Given the description of an element on the screen output the (x, y) to click on. 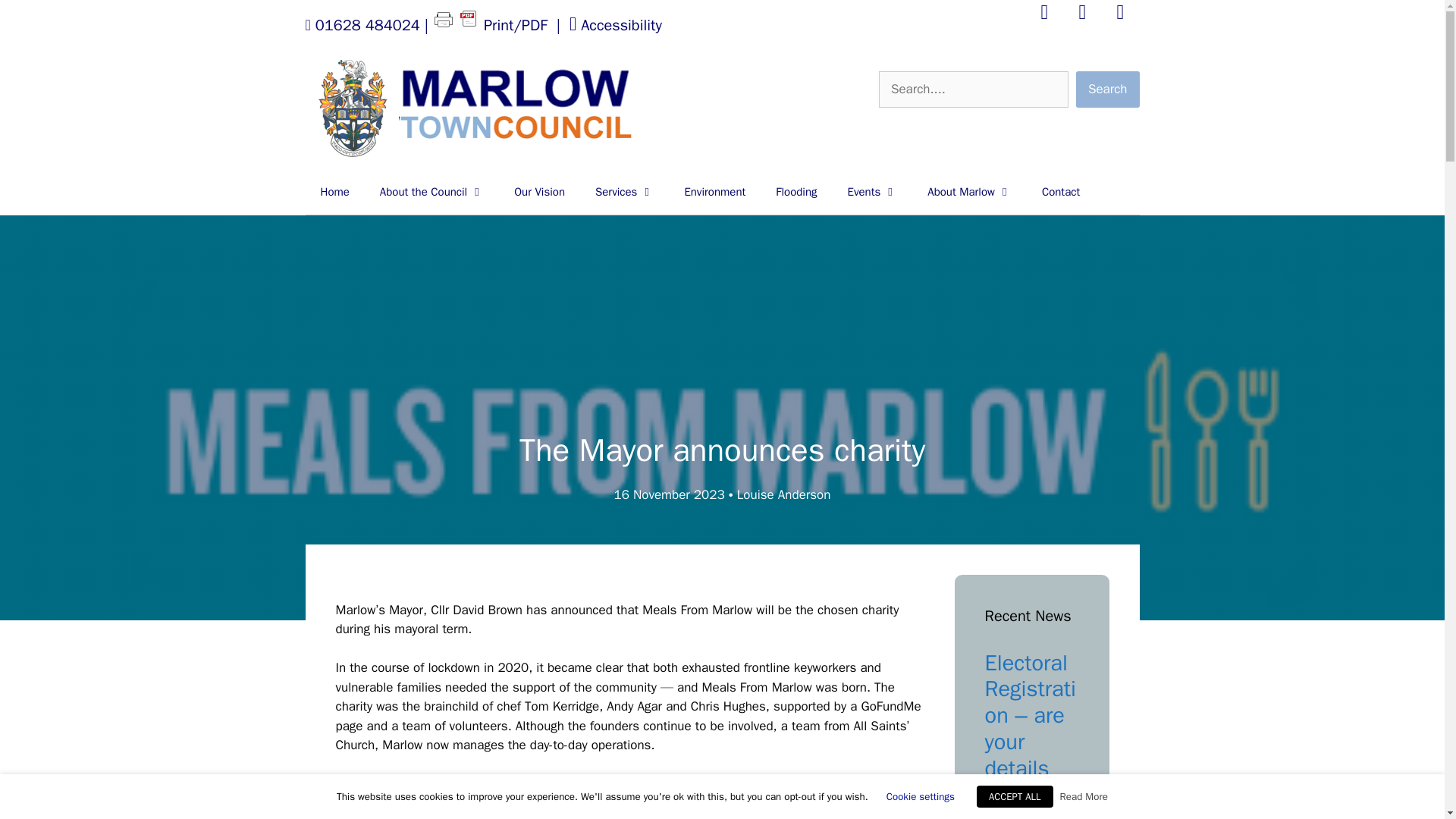
Accessibility (615, 25)
Facebook (1045, 15)
Twittter (1083, 15)
Insta (1121, 15)
